Given the description of an element on the screen output the (x, y) to click on. 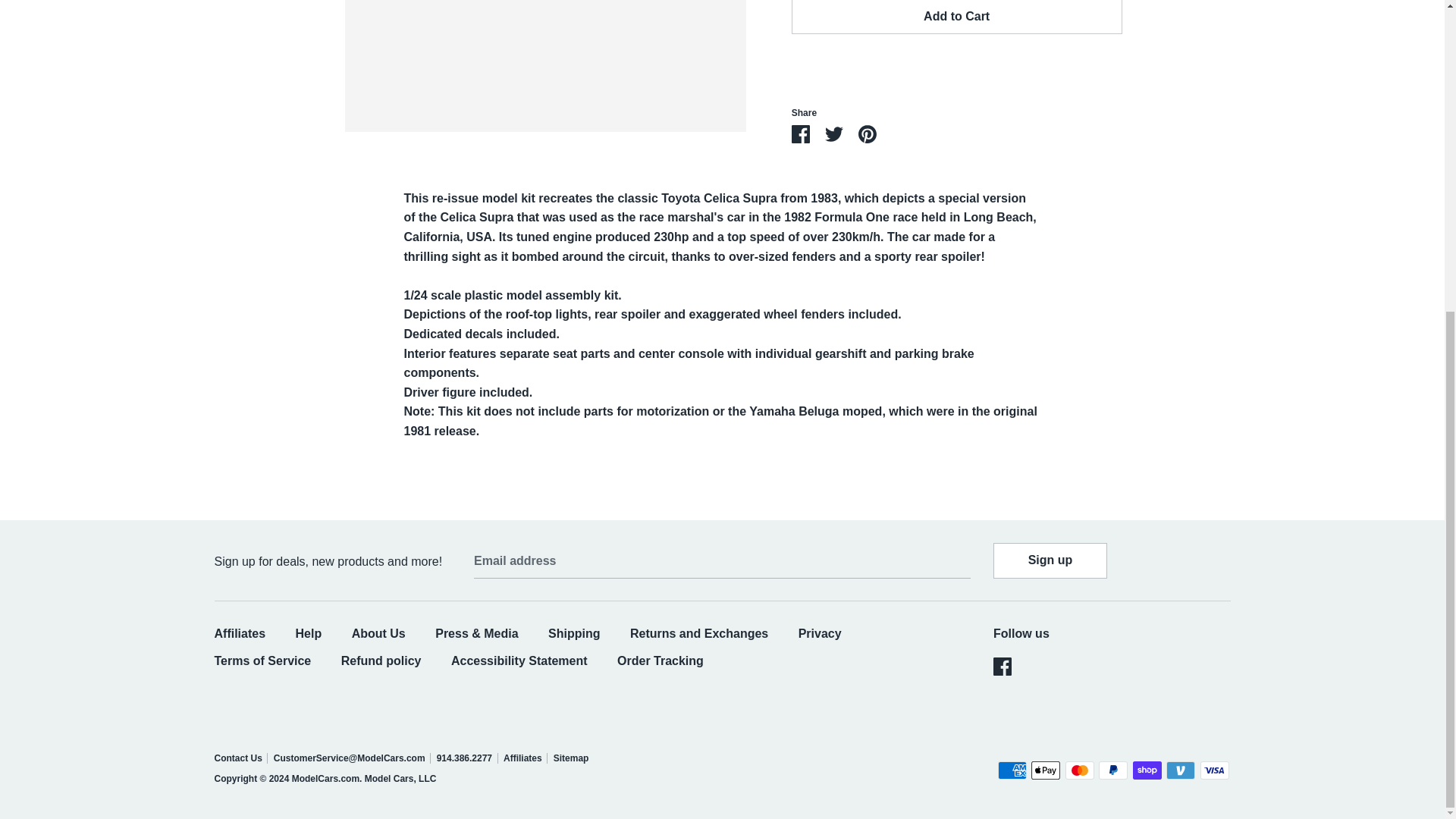
American Express (1011, 770)
Apple Pay (1044, 770)
